Given the description of an element on the screen output the (x, y) to click on. 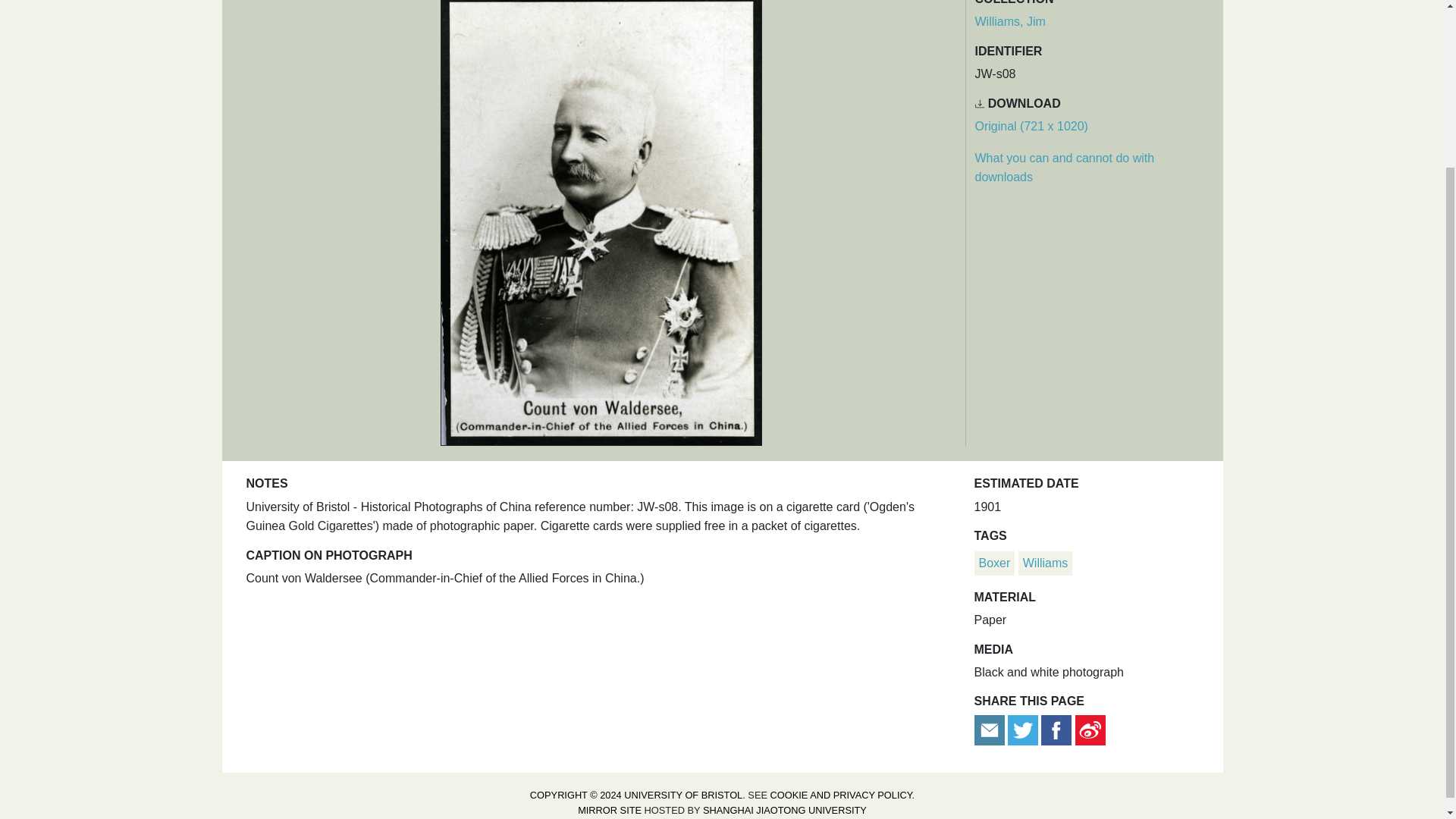
MIRROR SITE (610, 809)
COOKIE AND PRIVACY POLICY (841, 794)
SHANGHAI JIAOTONG UNIVERSITY (784, 809)
Williams, Jim (1010, 21)
Williams (1045, 562)
What you can and cannot do with downloads (1064, 167)
Boxer (994, 562)
